Given the description of an element on the screen output the (x, y) to click on. 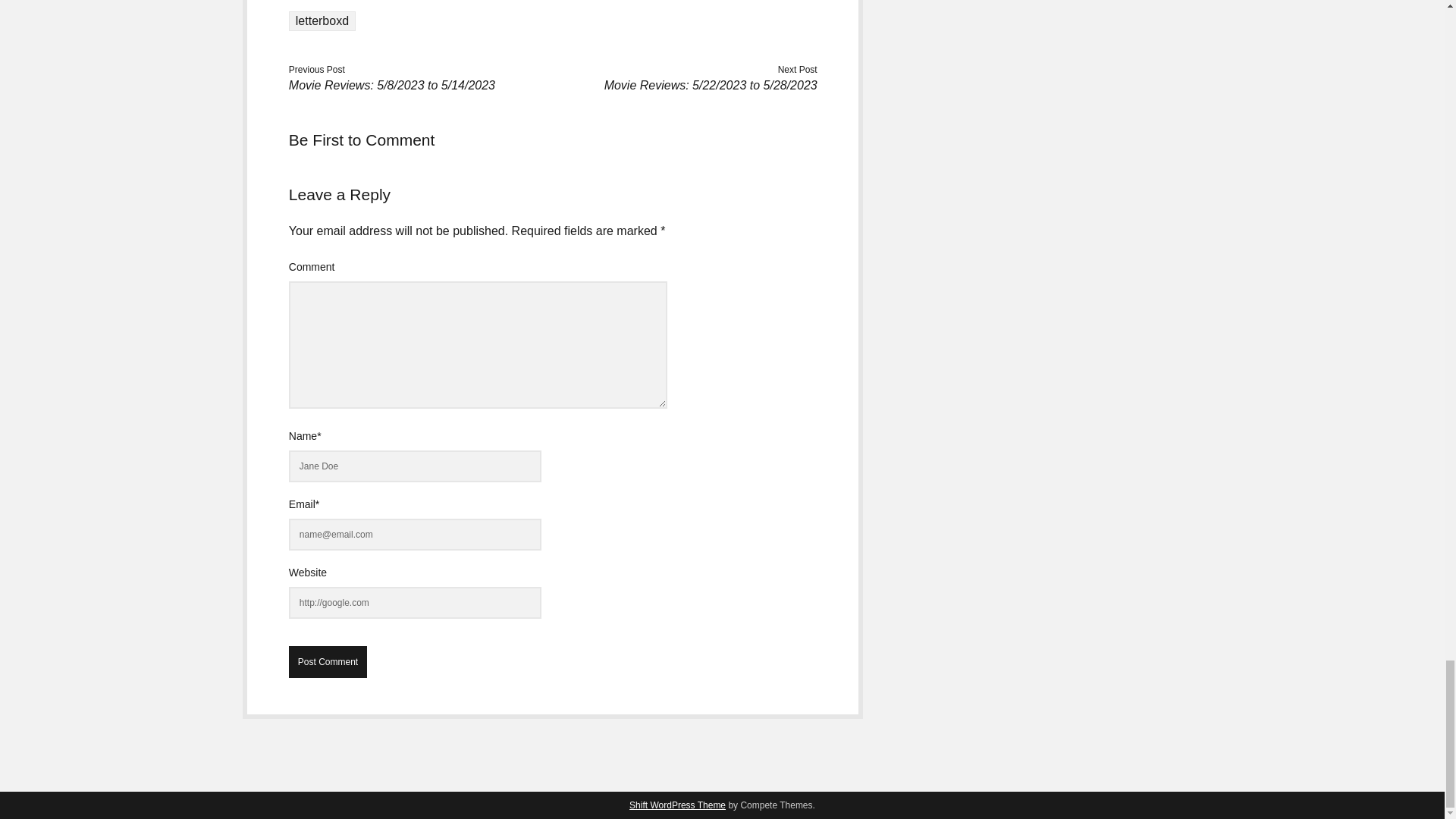
Post Comment (327, 662)
View all posts tagged letterboxd (321, 21)
Post Comment (327, 662)
letterboxd (321, 21)
